Given the description of an element on the screen output the (x, y) to click on. 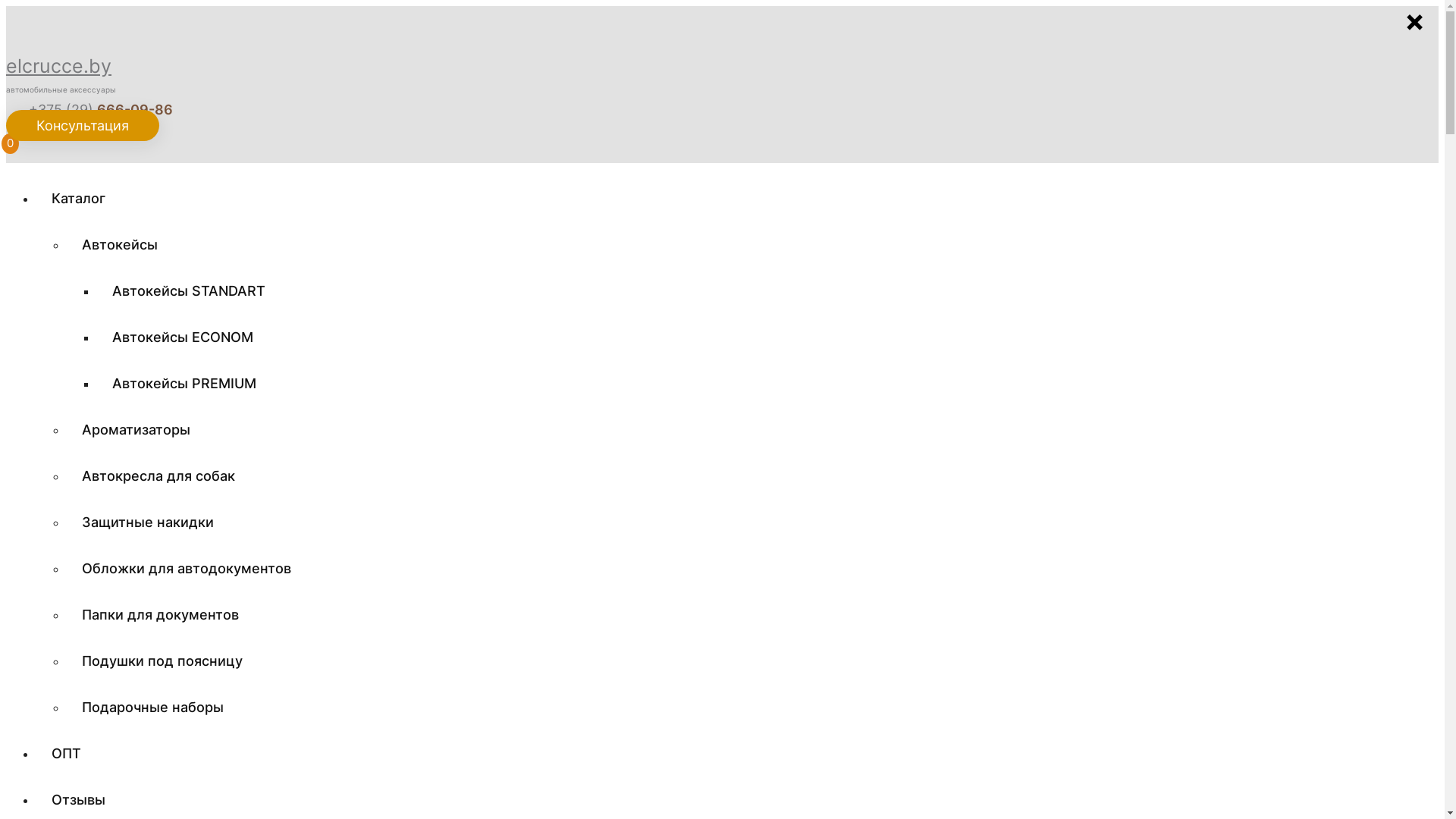
elcrucce.by Element type: text (58, 65)
+375 (29) 666-09-86 Element type: text (89, 109)
0 Element type: text (12, 147)
